Given the description of an element on the screen output the (x, y) to click on. 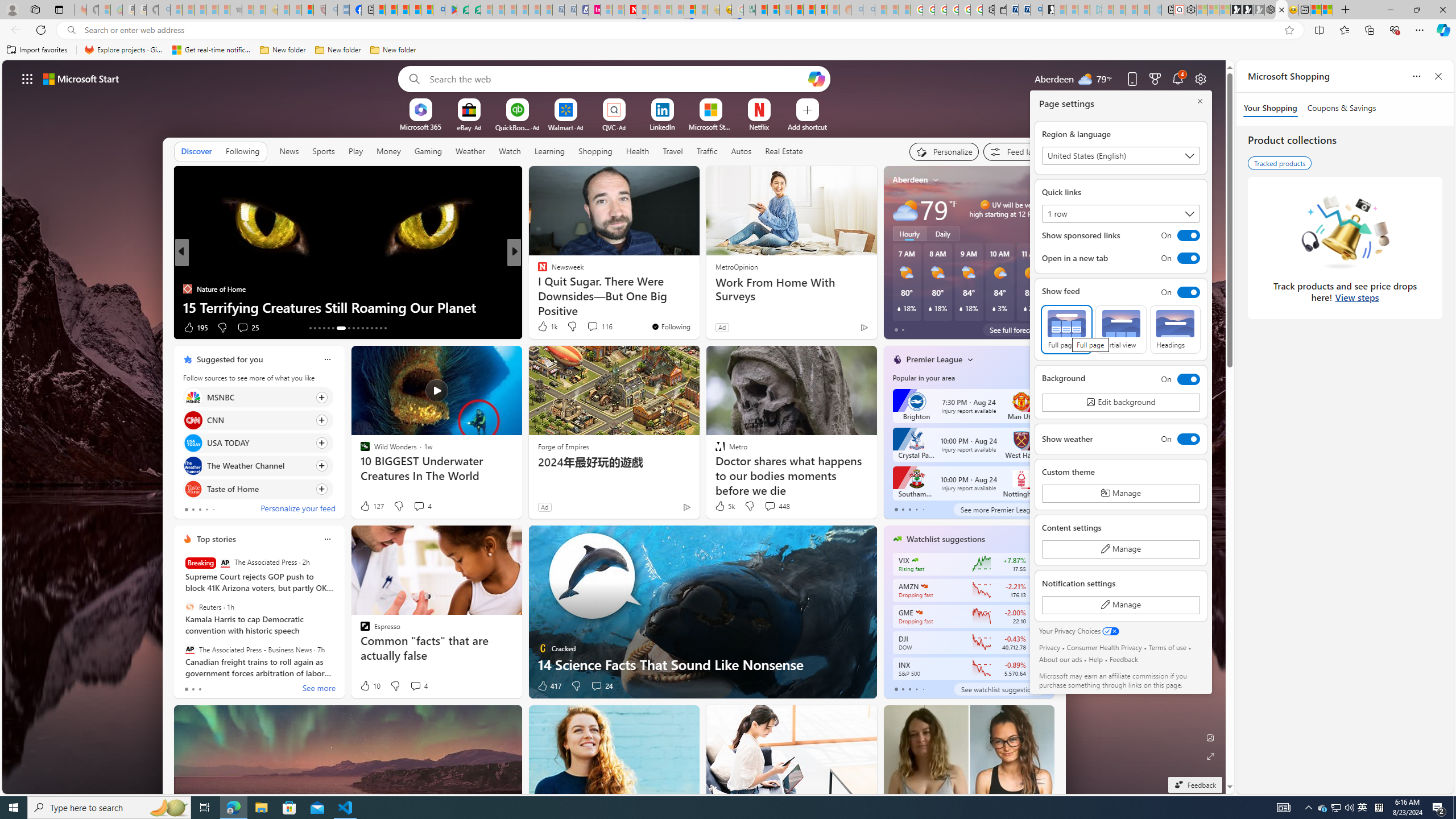
Bing Real Estate - Home sales and rental listings (1035, 9)
Favorites bar (728, 49)
Real Estate (783, 151)
tab-0 (895, 689)
See more Premier League (998, 509)
See full forecast (1013, 329)
Cheap Hotels - Save70.com - Sleeping (569, 9)
Region & language (1120, 155)
Utah sues federal government - Search - Sleeping (868, 9)
Learning (549, 151)
See watchlist suggestions (999, 689)
Microsoft Start - Sleeping (1131, 9)
